Given the description of an element on the screen output the (x, y) to click on. 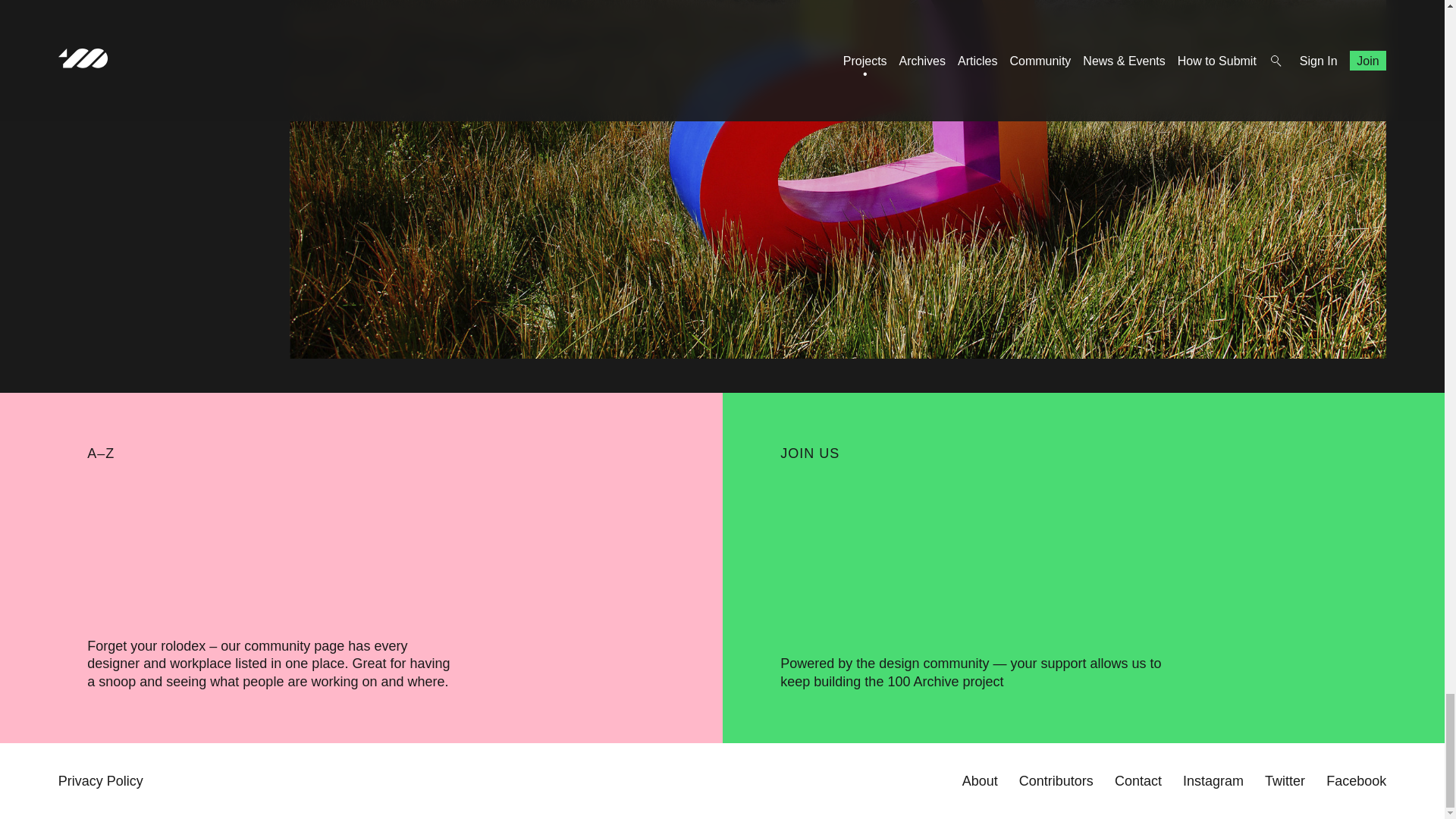
Twitter (1284, 780)
Facebook (1356, 780)
Privacy Policy (100, 780)
Instagram (1212, 780)
About (979, 780)
Contact (1138, 780)
Contributors (1056, 780)
